Given the description of an element on the screen output the (x, y) to click on. 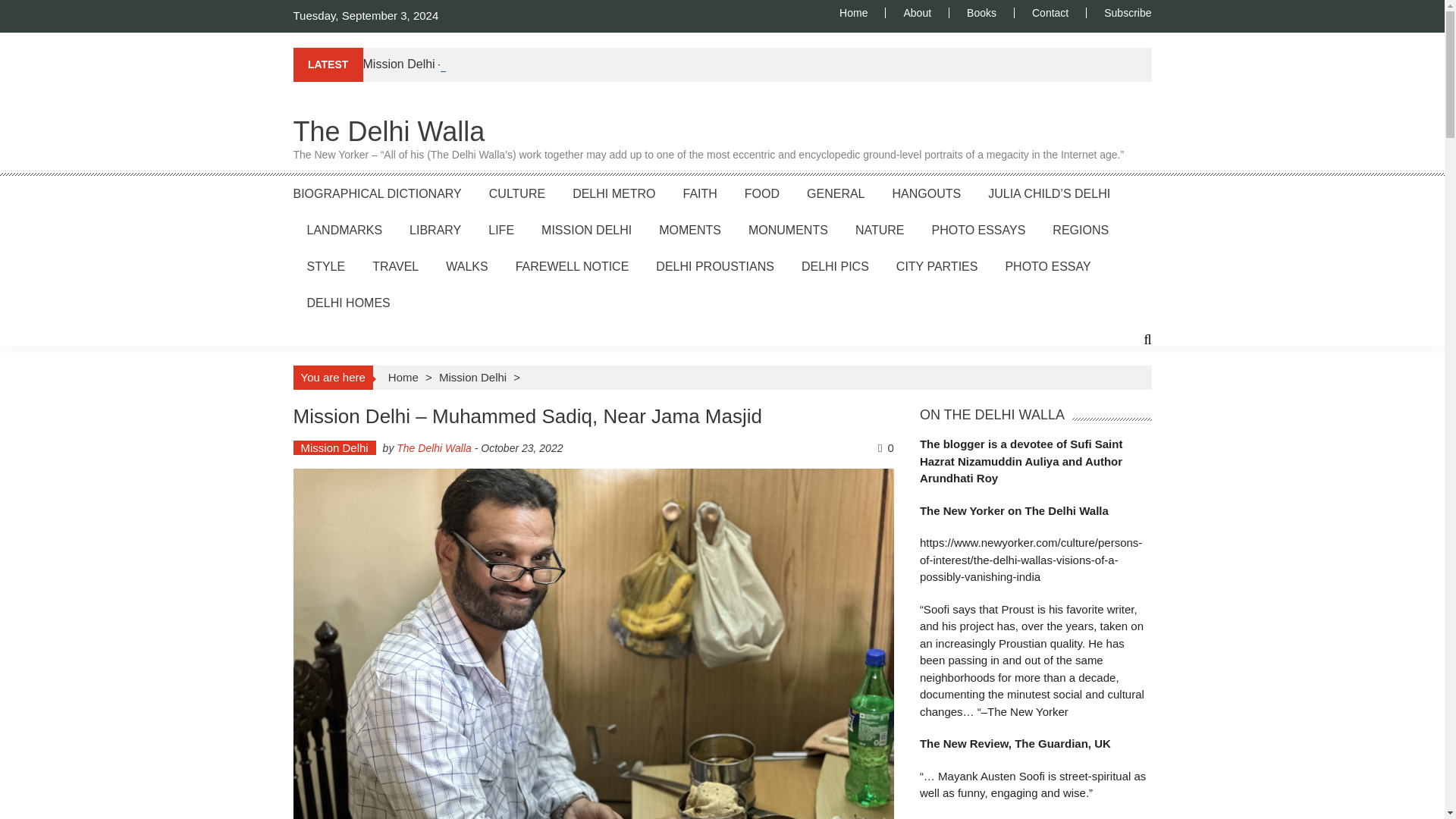
NATURE (880, 228)
MOMENTS (689, 228)
LANDMARKS (343, 228)
LIFE (500, 228)
GENERAL (835, 192)
TRAVEL (395, 265)
DELHI HOMES (347, 301)
WALKS (466, 265)
Subscribe (1118, 12)
CULTURE (516, 192)
